Given the description of an element on the screen output the (x, y) to click on. 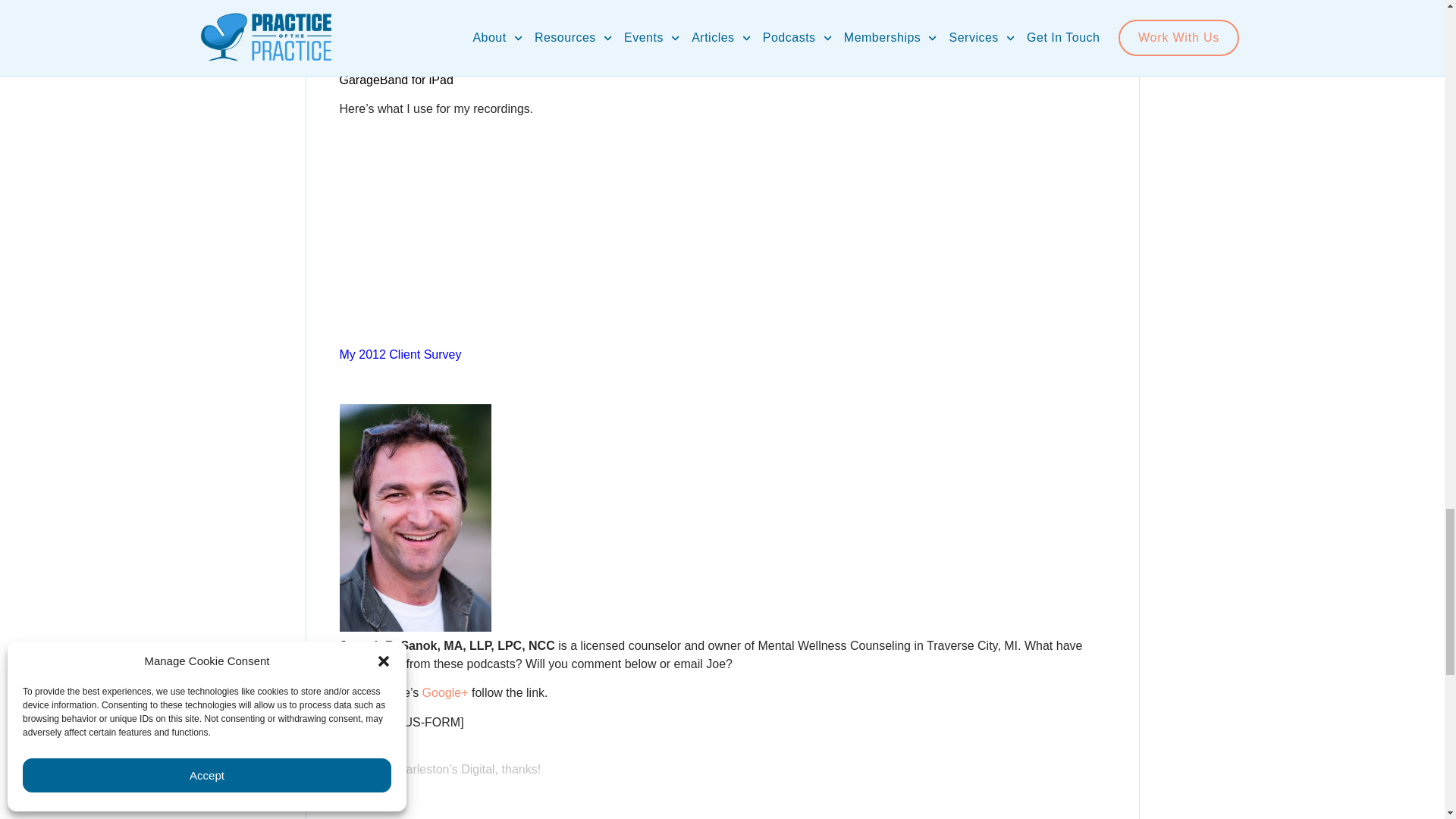
private practice (395, 79)
counseling insurance (384, 51)
annual survey example (400, 354)
